Given the description of an element on the screen output the (x, y) to click on. 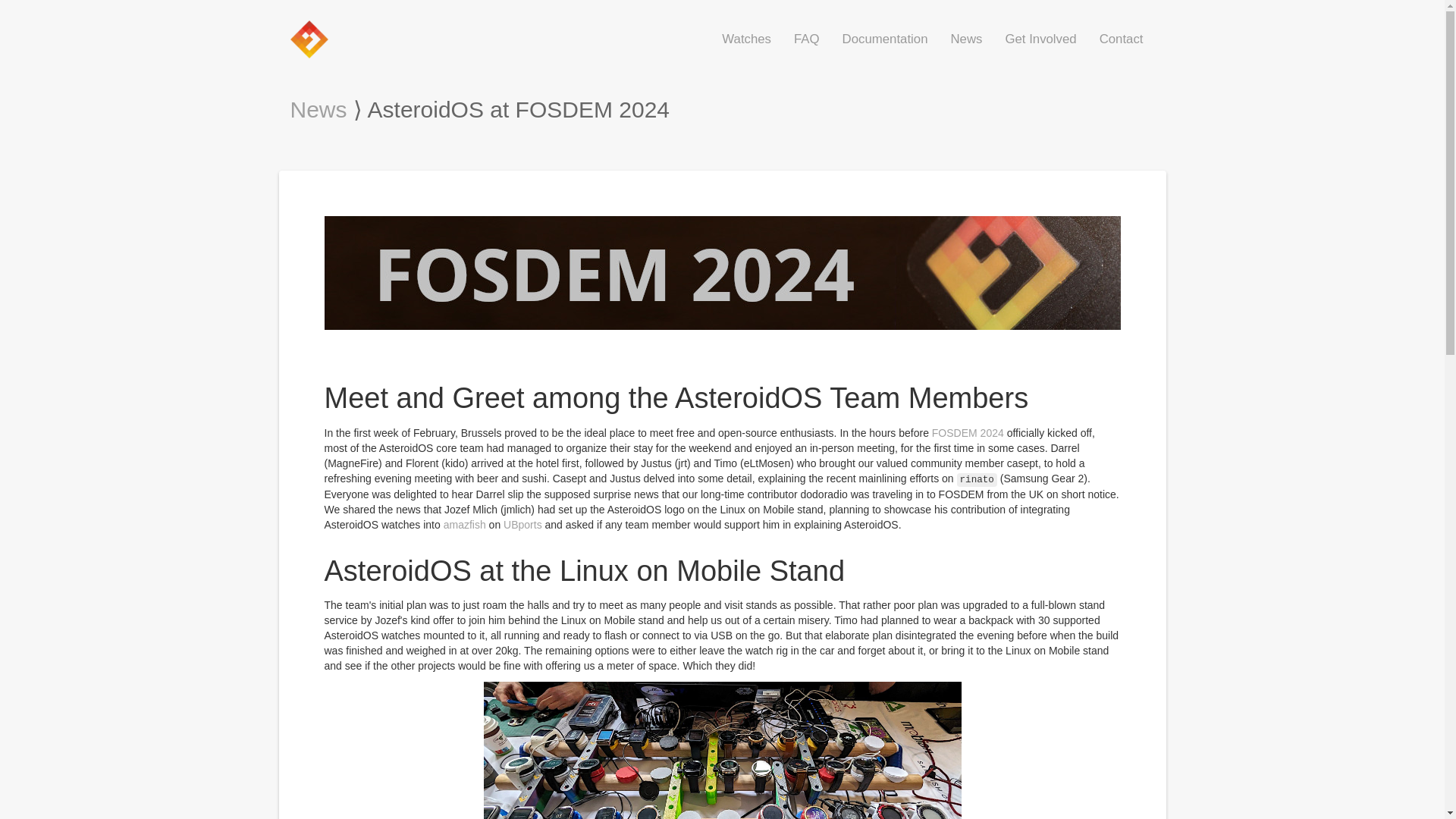
FAQ (807, 38)
UBports (522, 524)
Contact (1120, 38)
amazfish (465, 524)
Get Involved (1039, 38)
Documentation (885, 38)
News (965, 38)
FOSDEM 2024 (967, 432)
News (317, 109)
Watches (746, 38)
